Given the description of an element on the screen output the (x, y) to click on. 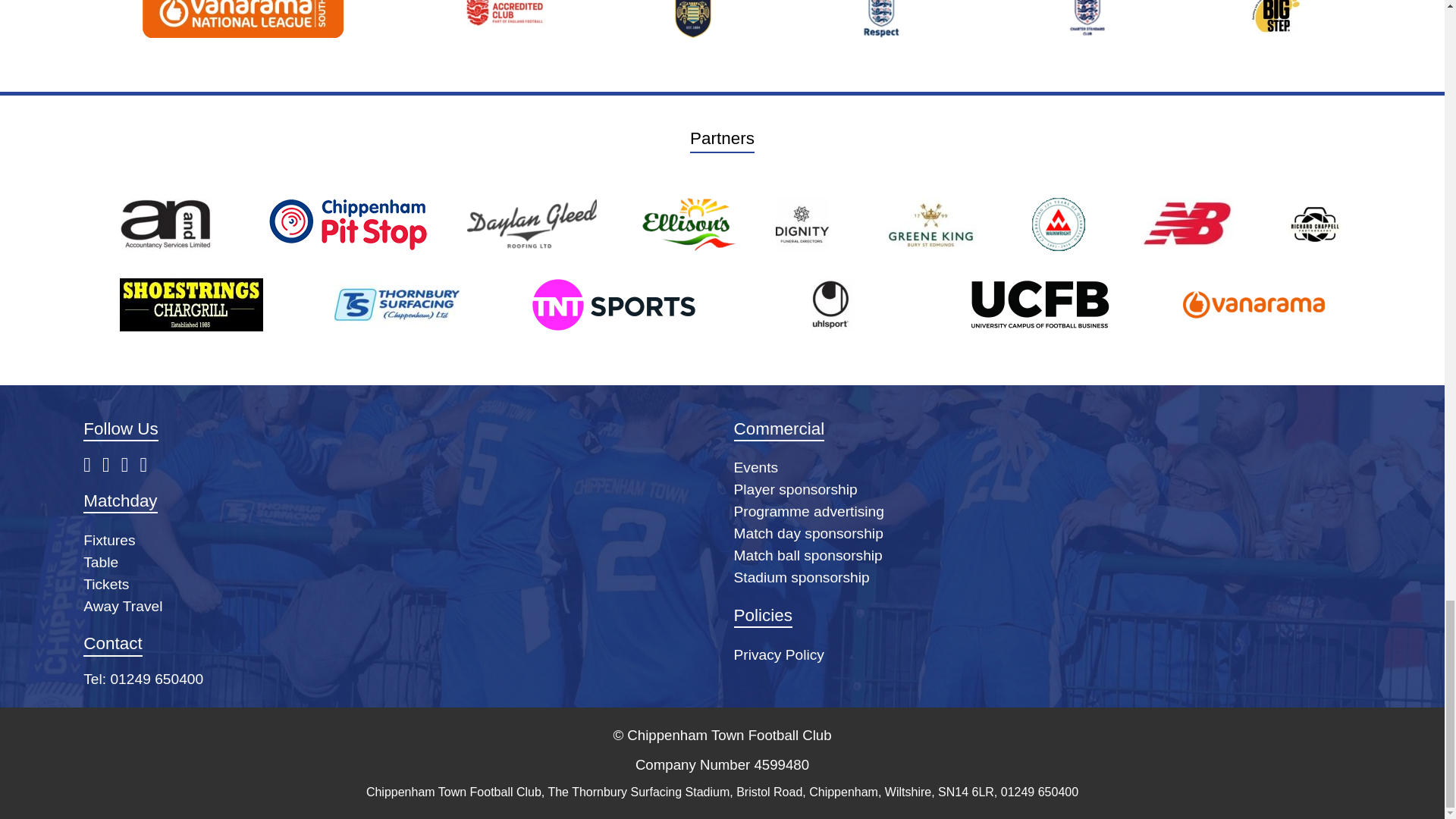
Chippenham Town Official YouTube Channel (129, 465)
Chippenham Town Official Facebook Page (91, 465)
Chippenham Town Official Twitter Account (110, 465)
Official Chippenham Town Instagram Account (148, 465)
